Given the description of an element on the screen output the (x, y) to click on. 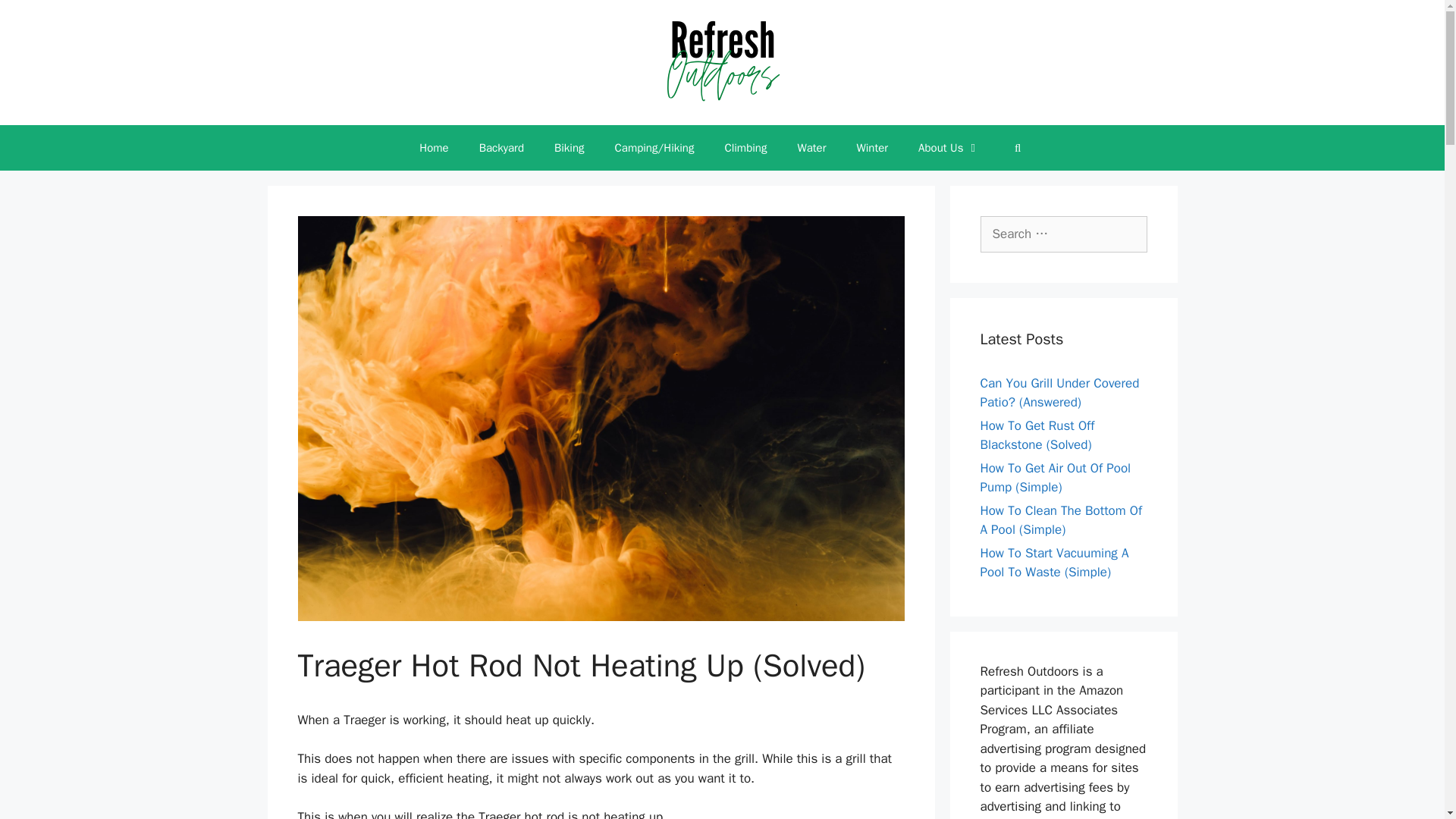
Refresh Outdoors (721, 62)
Climbing (745, 147)
Backyard (501, 147)
Search for: (1063, 234)
Biking (568, 147)
Search (35, 18)
Water (811, 147)
Refresh Outdoors (721, 61)
Home (433, 147)
Winter (871, 147)
About Us (948, 147)
